Given the description of an element on the screen output the (x, y) to click on. 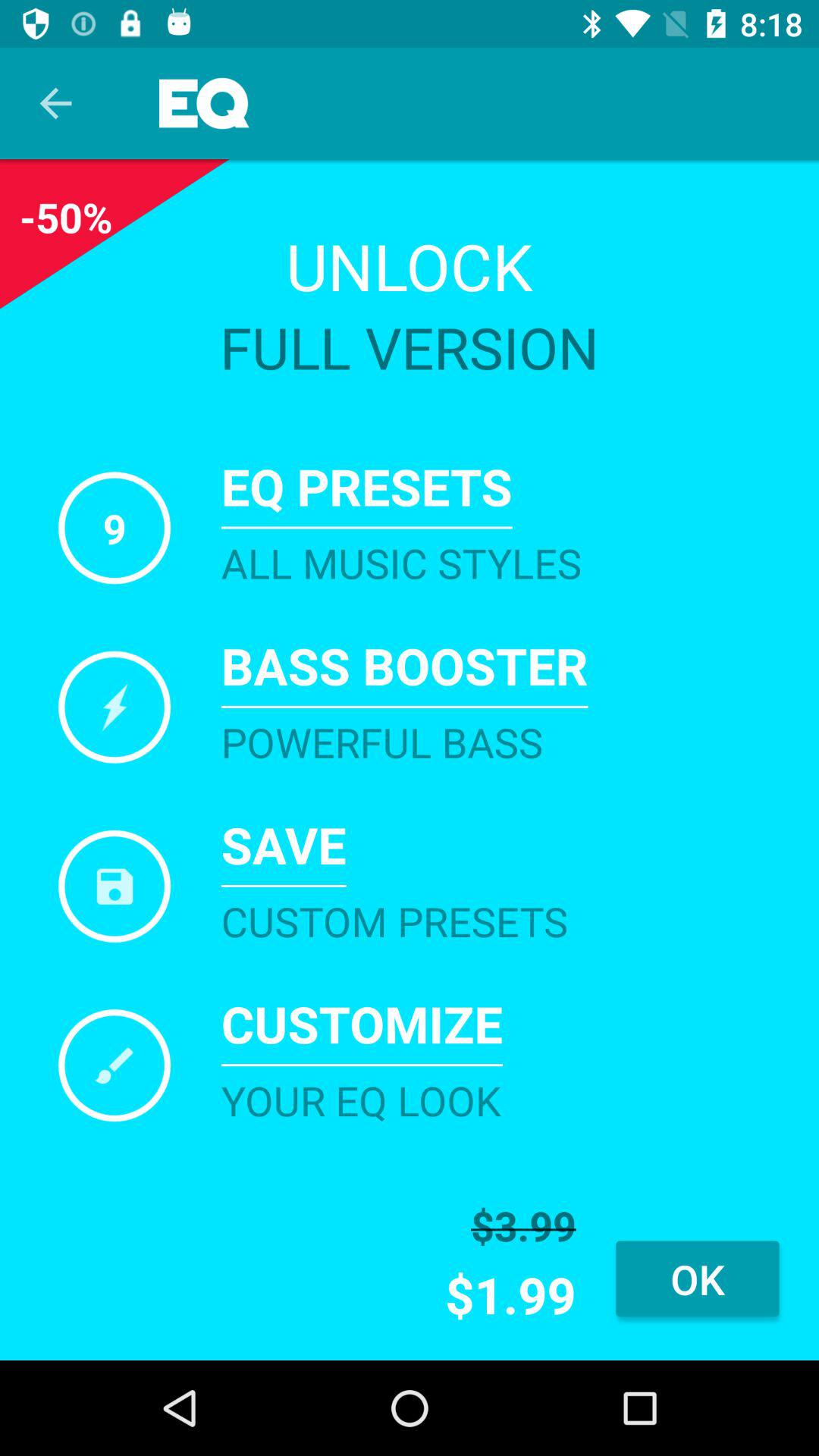
launch icon above -50% item (55, 103)
